Given the description of an element on the screen output the (x, y) to click on. 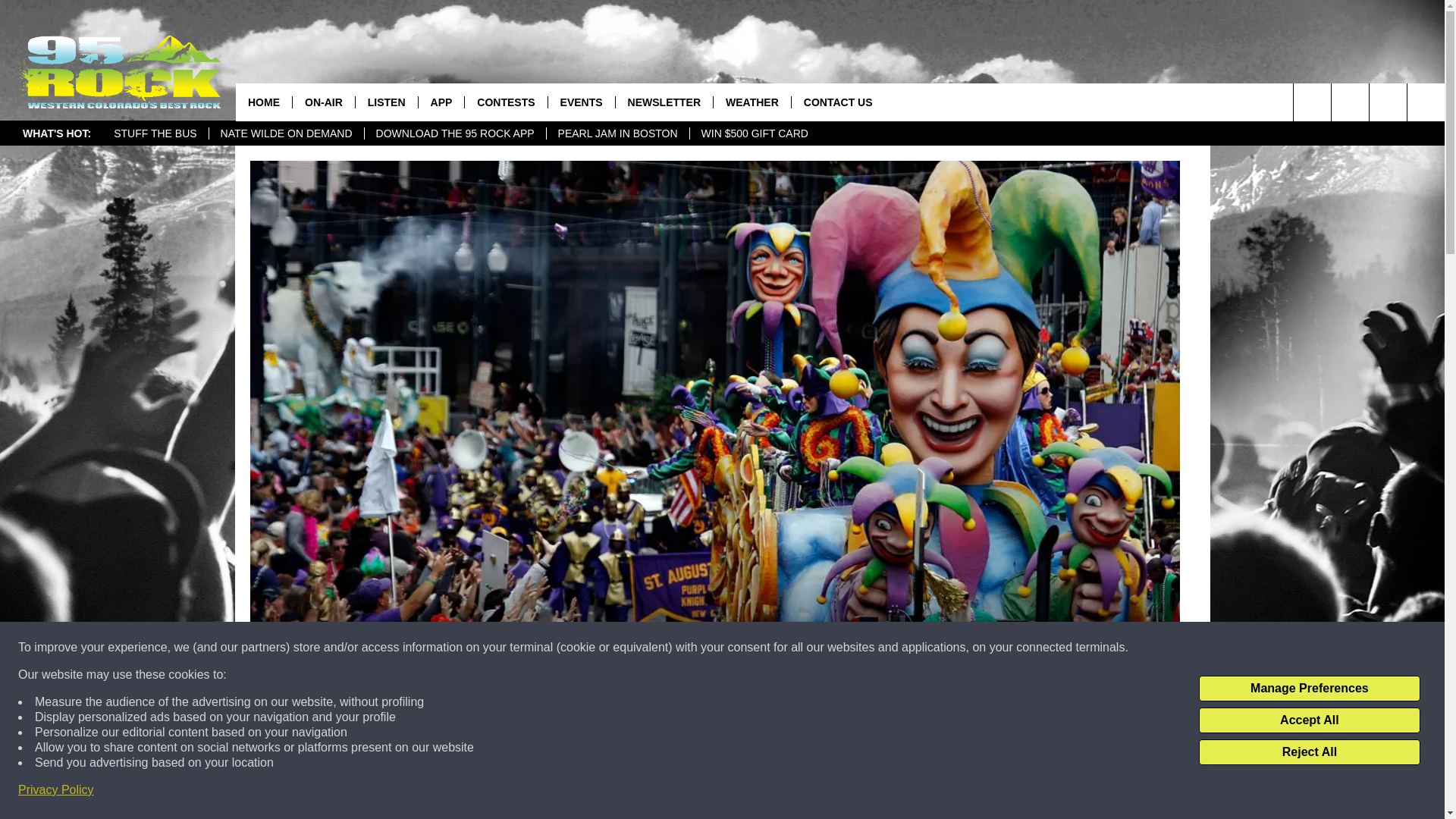
Manage Preferences (1309, 688)
Accept All (1309, 720)
CONTESTS (505, 102)
ON-AIR (323, 102)
NATE WILDE ON DEMAND (286, 133)
HOME (263, 102)
Reject All (1309, 751)
LISTEN (386, 102)
Share on Twitter (912, 791)
STUFF THE BUS (154, 133)
PEARL JAM IN BOSTON (617, 133)
APP (440, 102)
DOWNLOAD THE 95 ROCK APP (455, 133)
Share on Facebook (517, 791)
Privacy Policy (55, 789)
